Given the description of an element on the screen output the (x, y) to click on. 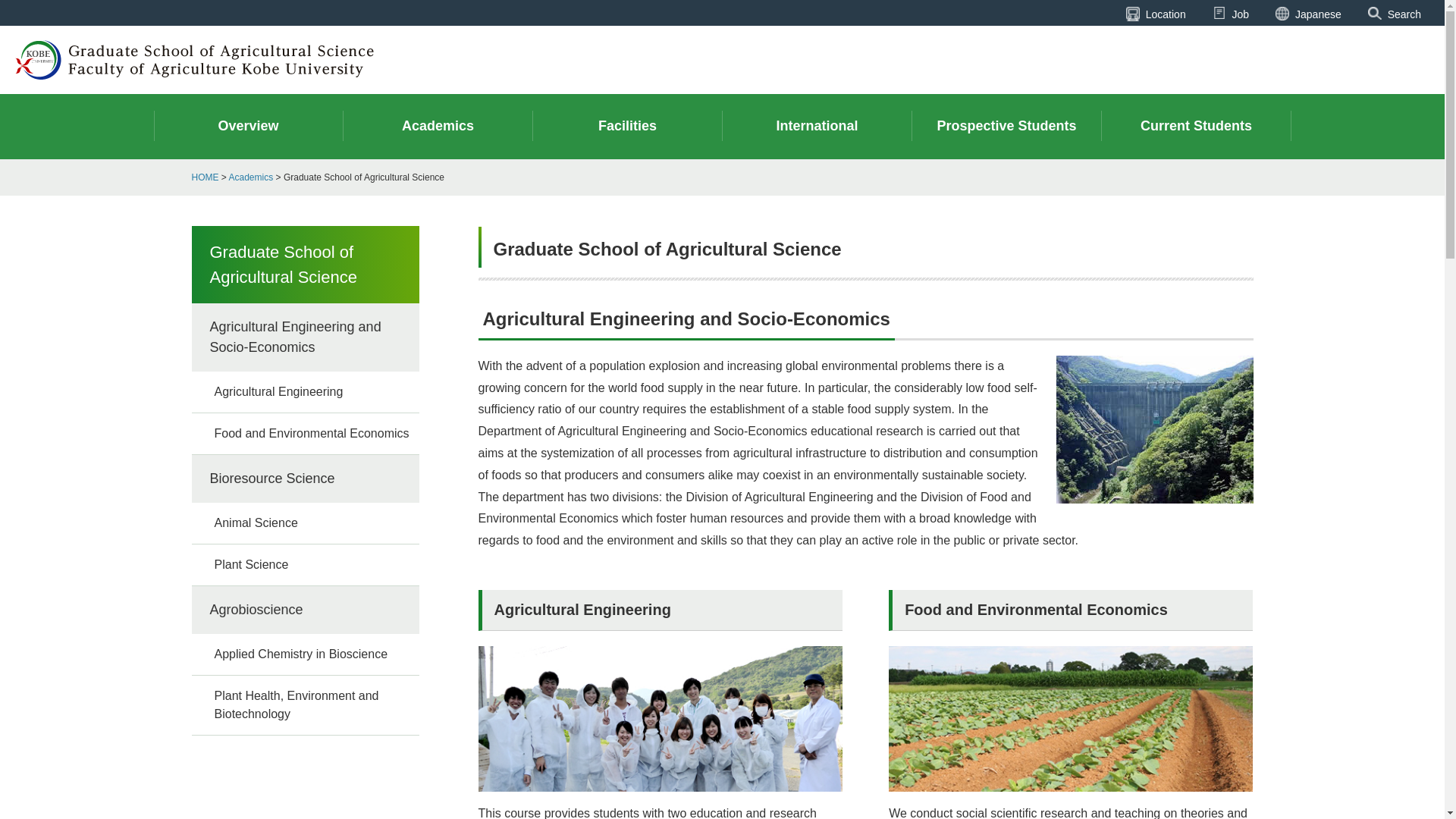
Graduate School of Agricultural Science (304, 264)
Academics (437, 126)
Academics (250, 176)
Facilities (627, 126)
Job (1230, 14)
Search (1394, 14)
Current Students (1195, 126)
Overview (247, 126)
HOME (204, 176)
Food and Environmental Economics (304, 434)
